Given the description of an element on the screen output the (x, y) to click on. 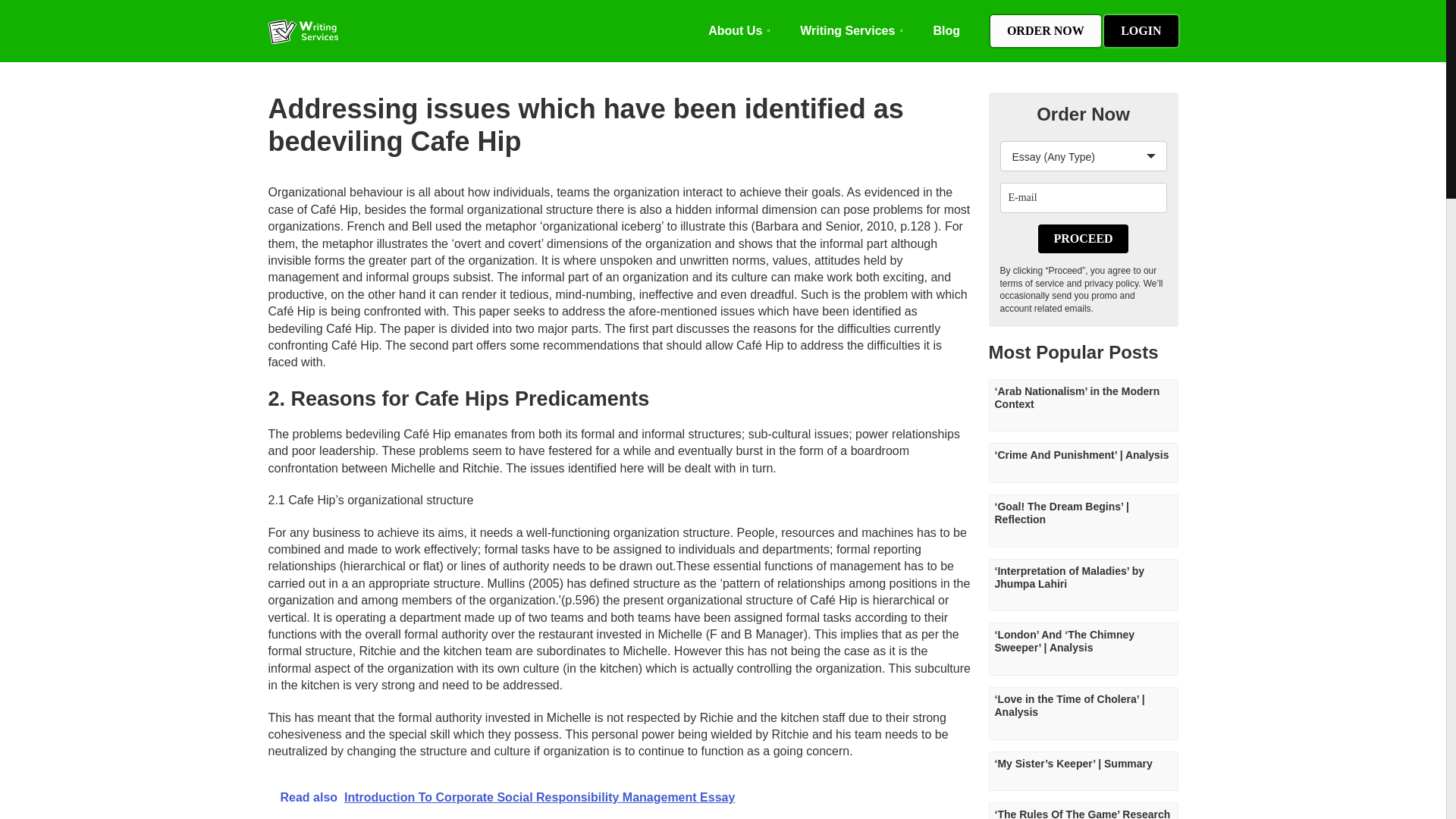
Proceed (1082, 238)
Proceed (1082, 238)
Blog (946, 30)
ORDER NOW (1045, 30)
LOGIN (1140, 30)
